Given the description of an element on the screen output the (x, y) to click on. 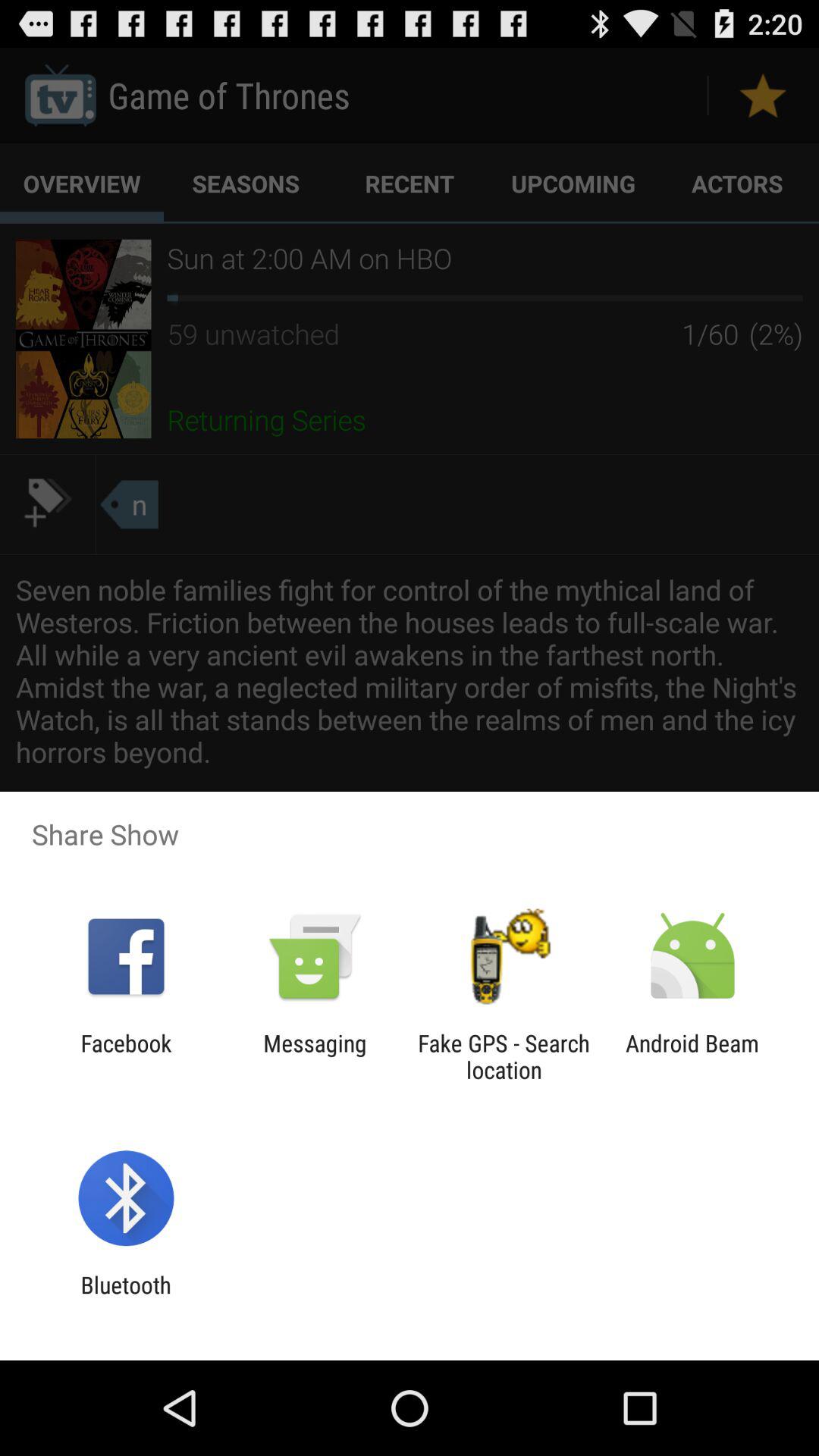
click the item to the left of the fake gps search icon (314, 1056)
